Given the description of an element on the screen output the (x, y) to click on. 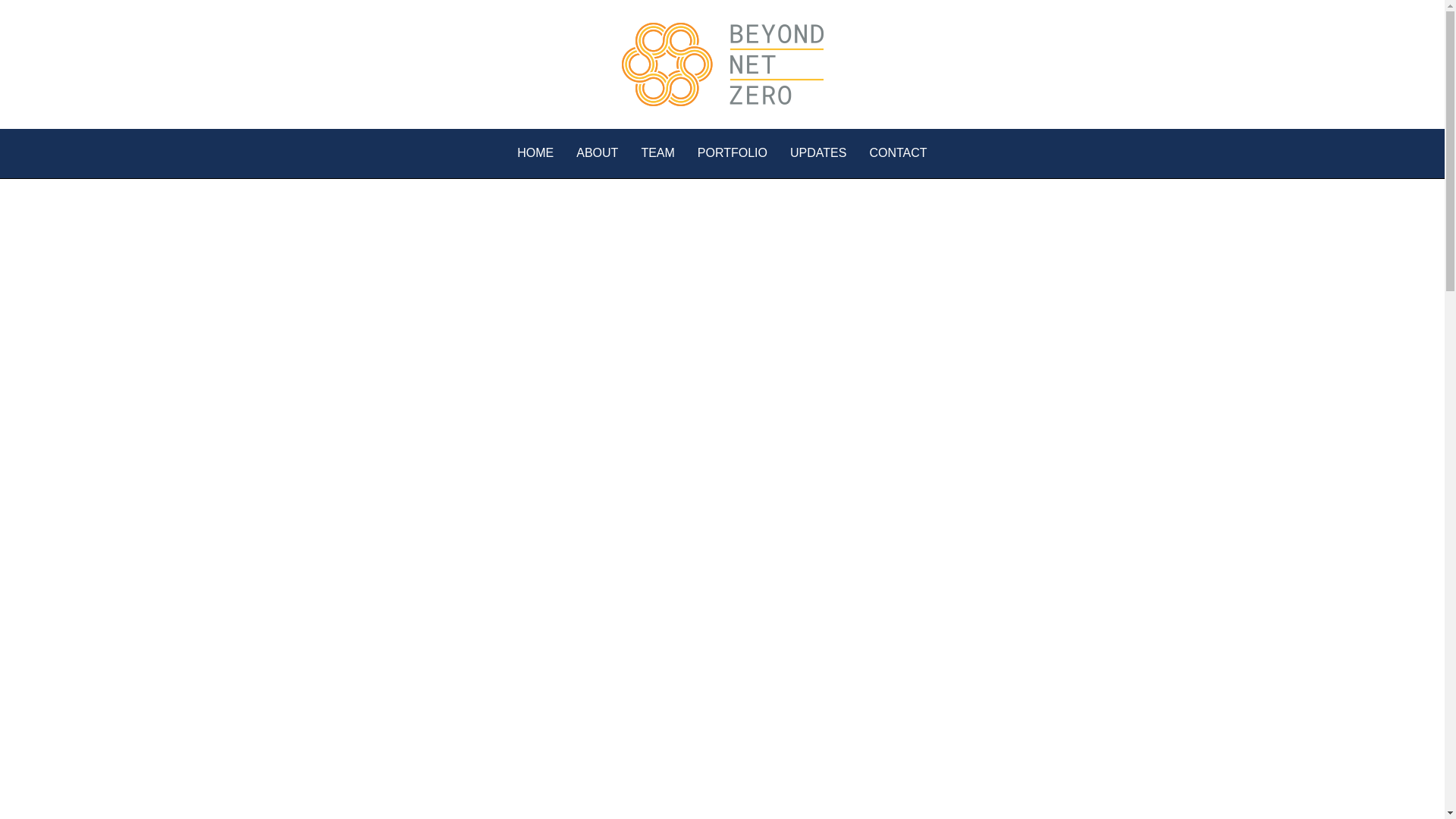
CONTACT (897, 152)
ABOUT (596, 152)
HOME (534, 152)
TEAM (657, 152)
UPDATES (817, 152)
PORTFOLIO (732, 152)
